Given the description of an element on the screen output the (x, y) to click on. 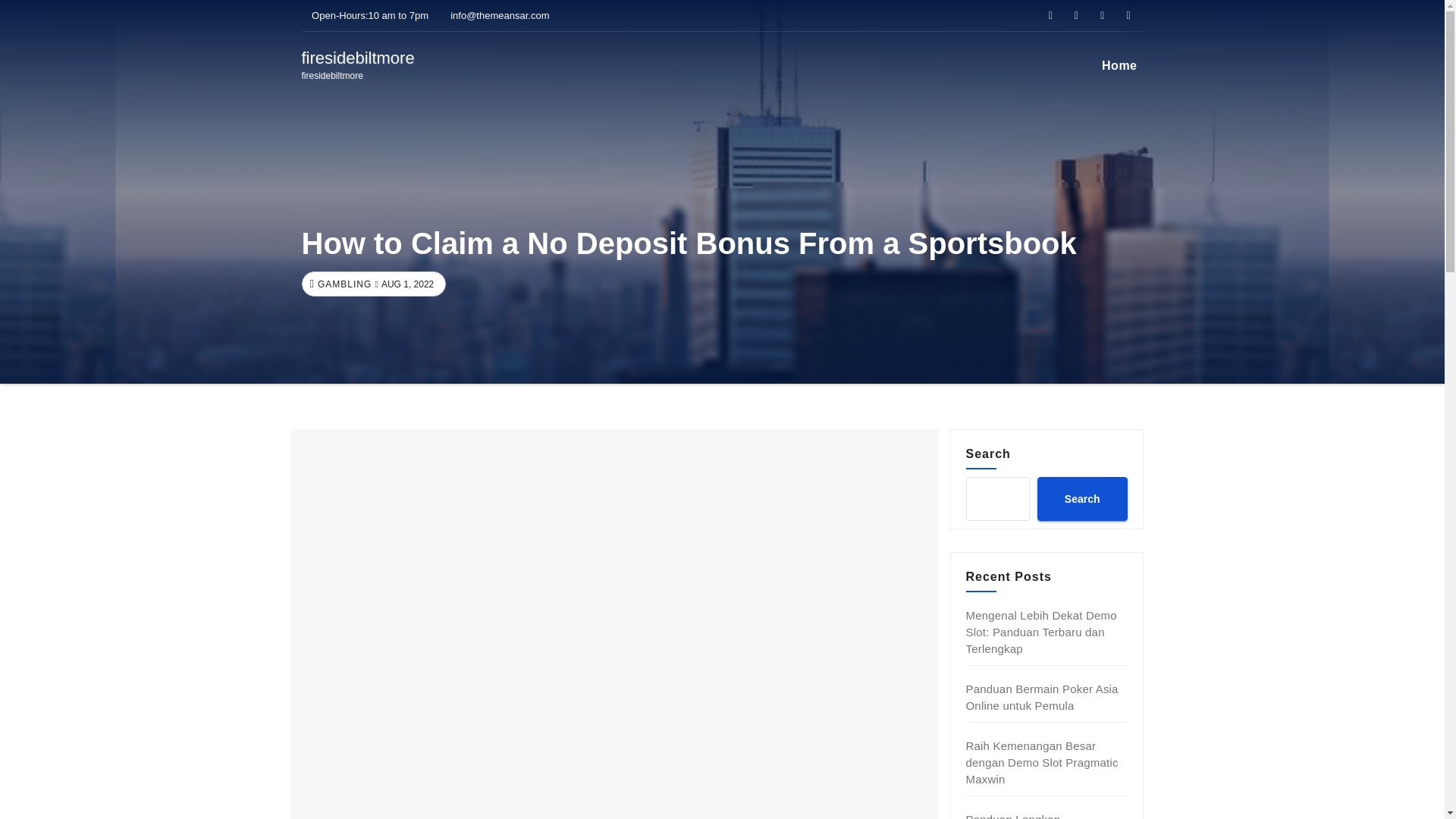
Search (357, 65)
Raih Kemenangan Besar dengan Demo Slot Pragmatic Maxwin (1081, 498)
Panduan Bermain Poker Asia Online untuk Pemula (1042, 762)
GAMBLING (1042, 696)
Open-Hours:10 am to 7pm (342, 284)
